Given the description of an element on the screen output the (x, y) to click on. 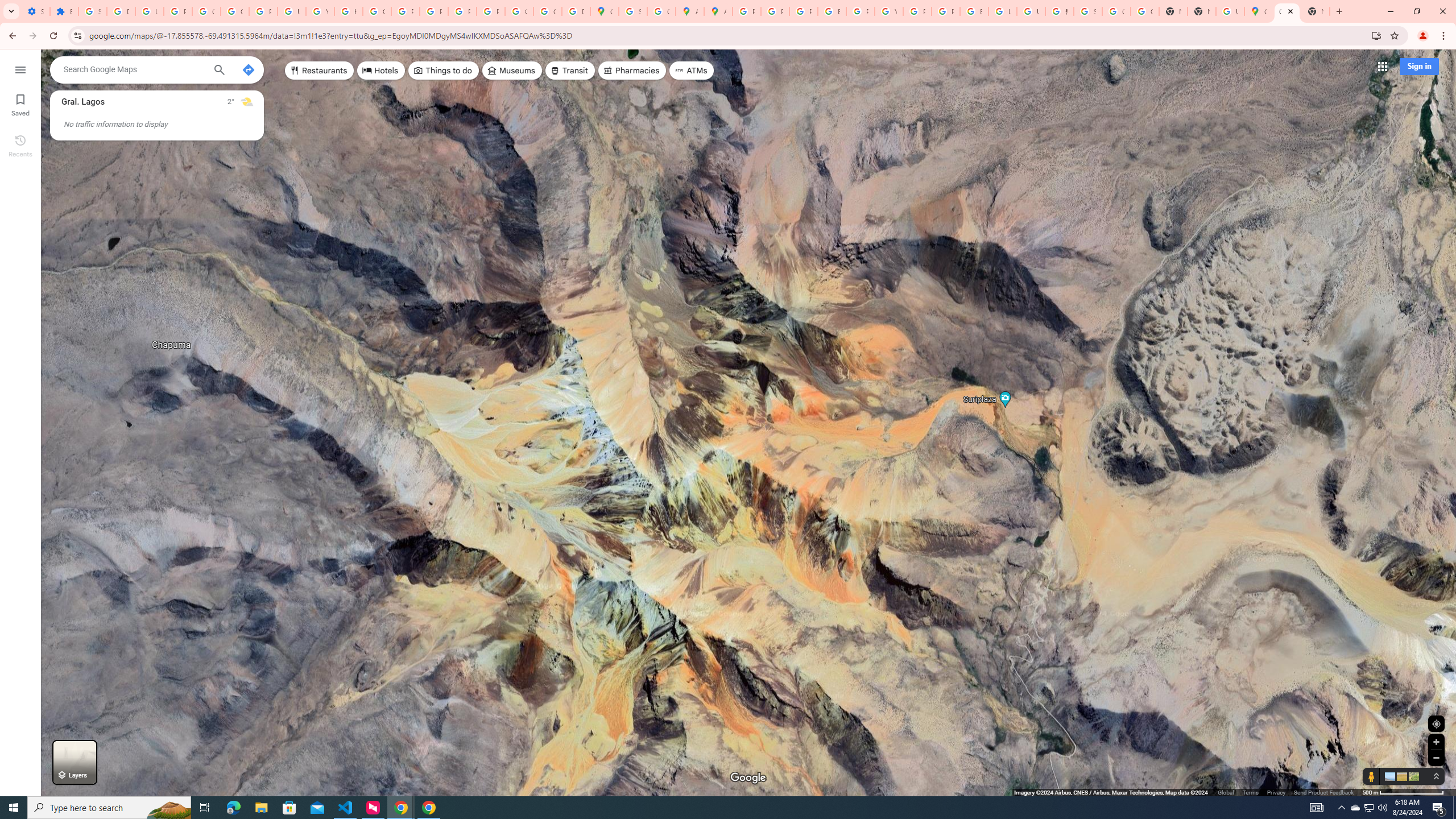
Menu (20, 68)
Show Your Location (1436, 723)
Create your Google Account (661, 11)
Install Google Maps (1376, 35)
500 m (1403, 792)
Send Product Feedback (1324, 792)
Delete photos & videos - Computer - Google Photos Help (120, 11)
